Given the description of an element on the screen output the (x, y) to click on. 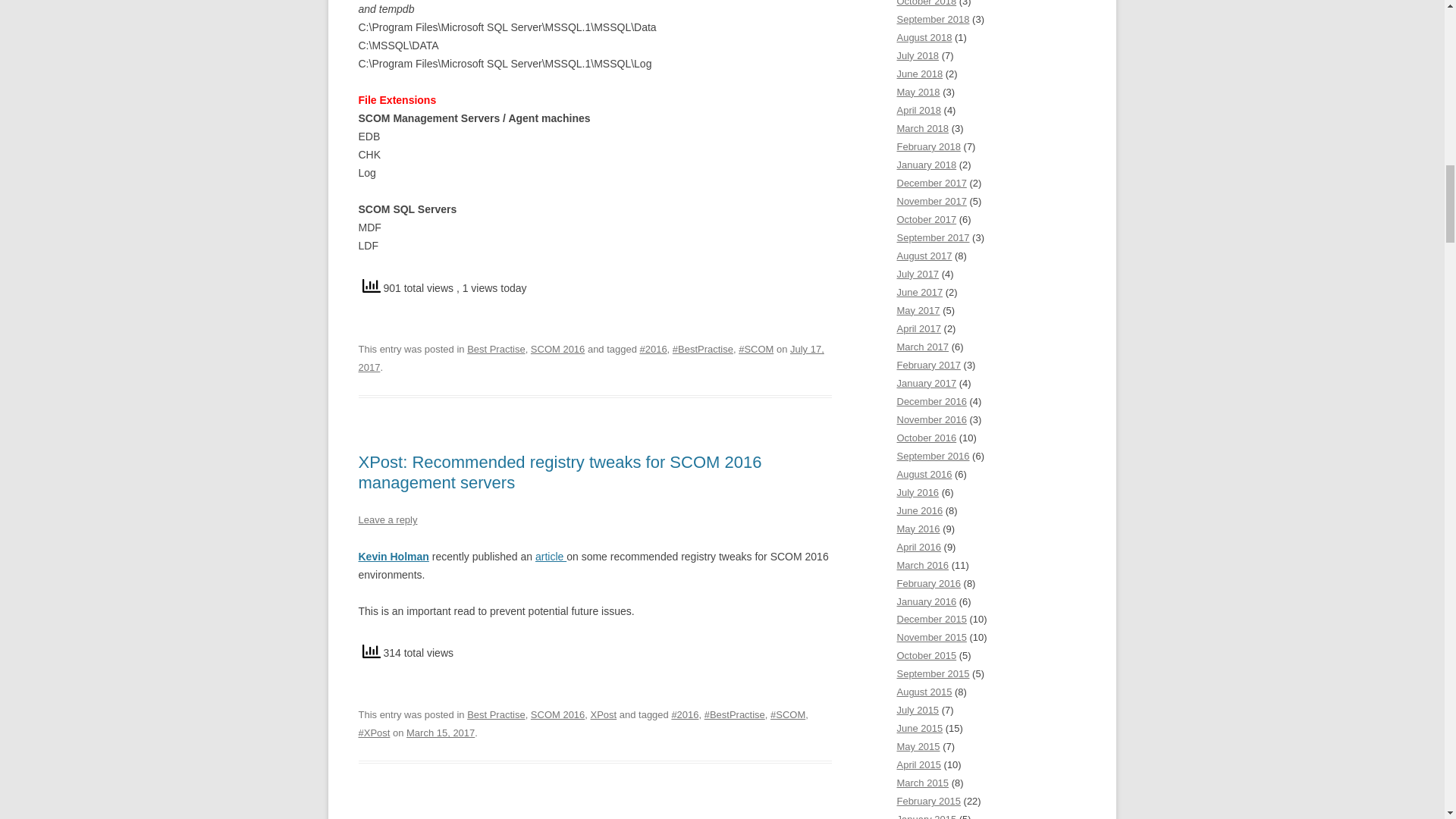
XPost (604, 714)
Best Practise (496, 714)
7:19 am (440, 732)
SCOM 2016 (558, 348)
Best Practise (496, 348)
2:51 pm (591, 358)
March 15, 2017 (440, 732)
July 17, 2017 (591, 358)
SCOM 2016 (558, 714)
article (550, 556)
